Given the description of an element on the screen output the (x, y) to click on. 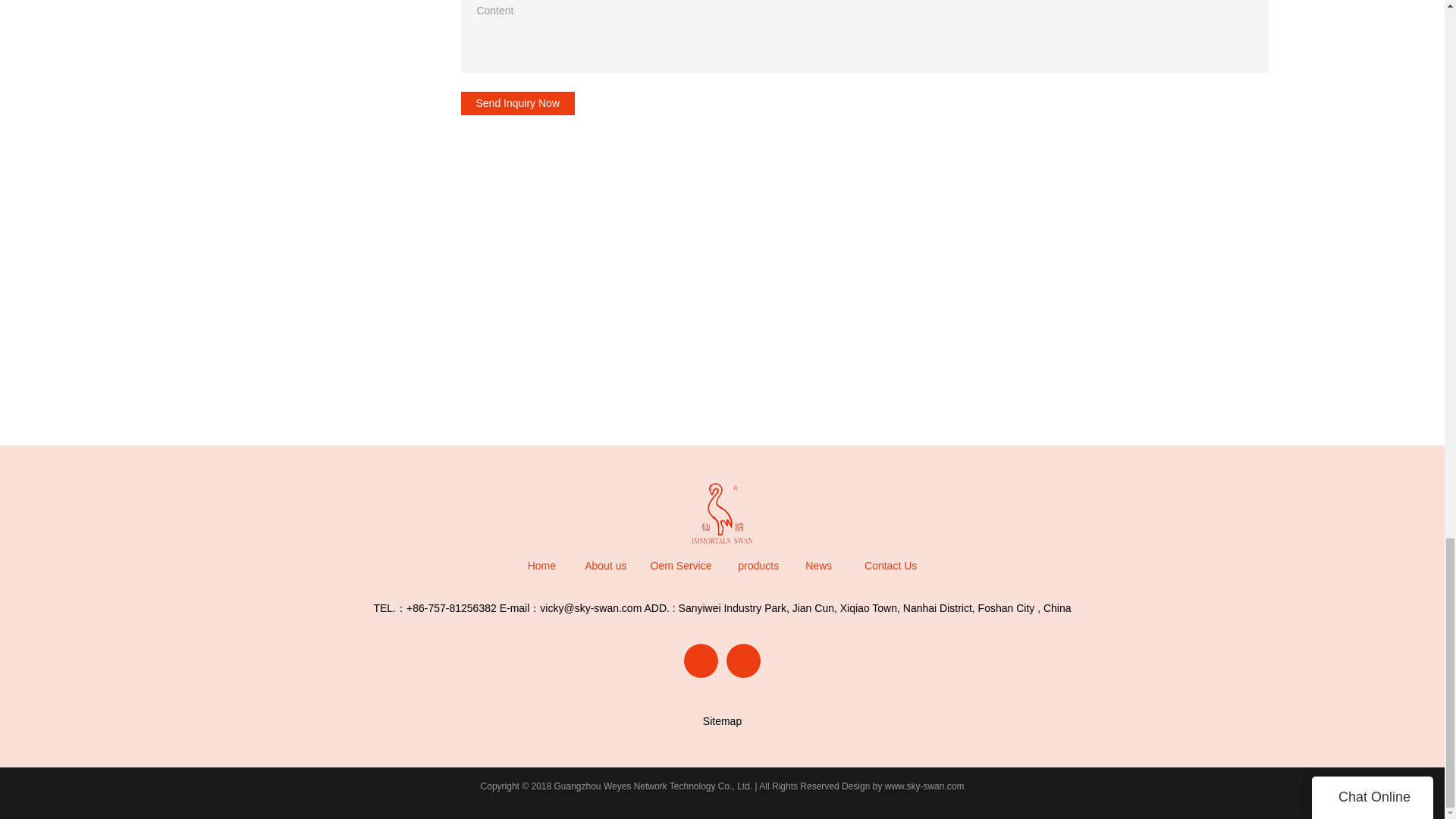
Send Inquiry Now (518, 102)
